Given the description of an element on the screen output the (x, y) to click on. 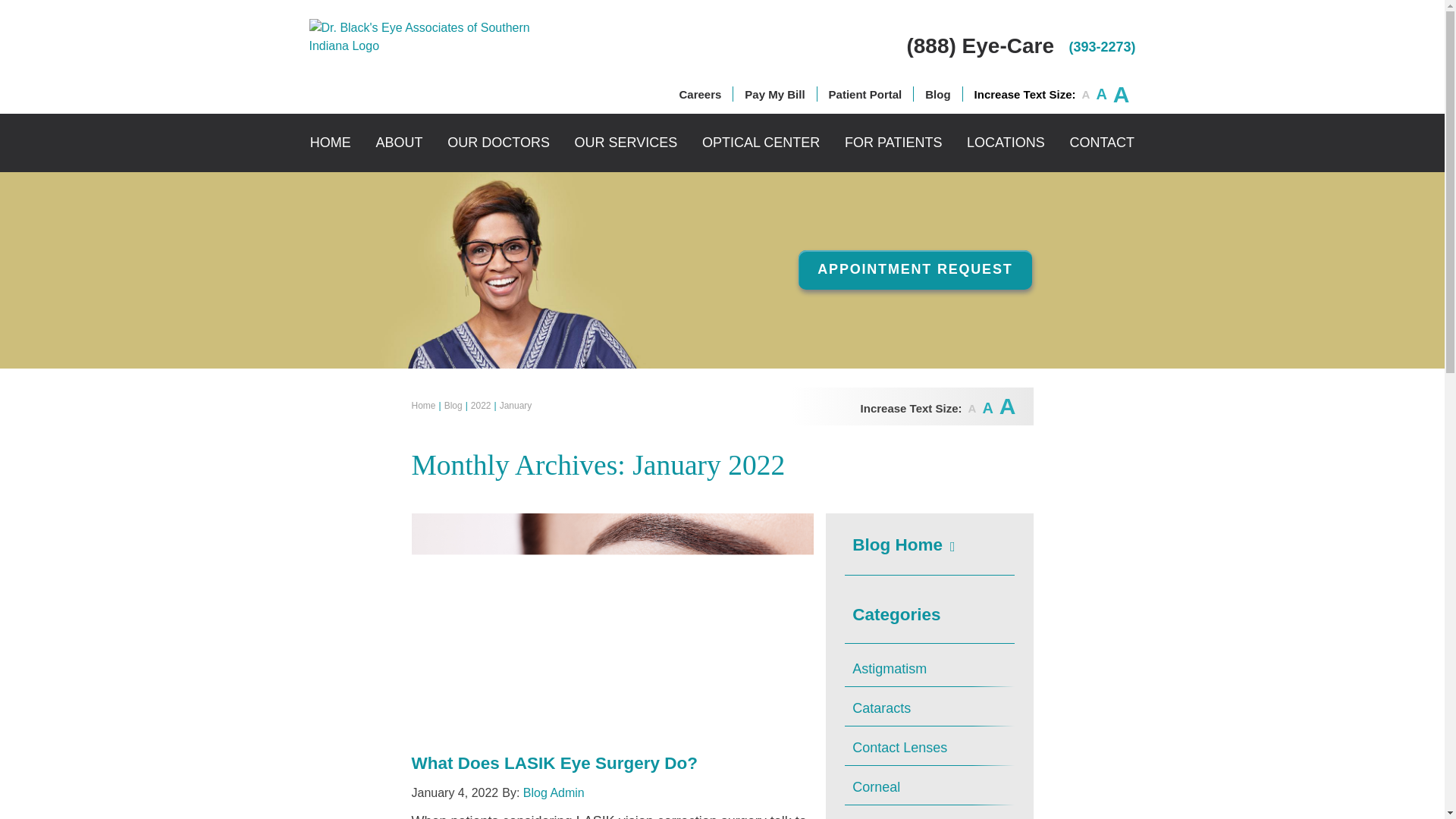
OUR DOCTORS (498, 142)
Pay My Bill (774, 93)
Careers (699, 93)
Patient Portal (865, 93)
Blog (937, 93)
View all posts by Blog Admin (553, 792)
What Does LASIK Eye Surgery Do? (553, 763)
